Given the description of an element on the screen output the (x, y) to click on. 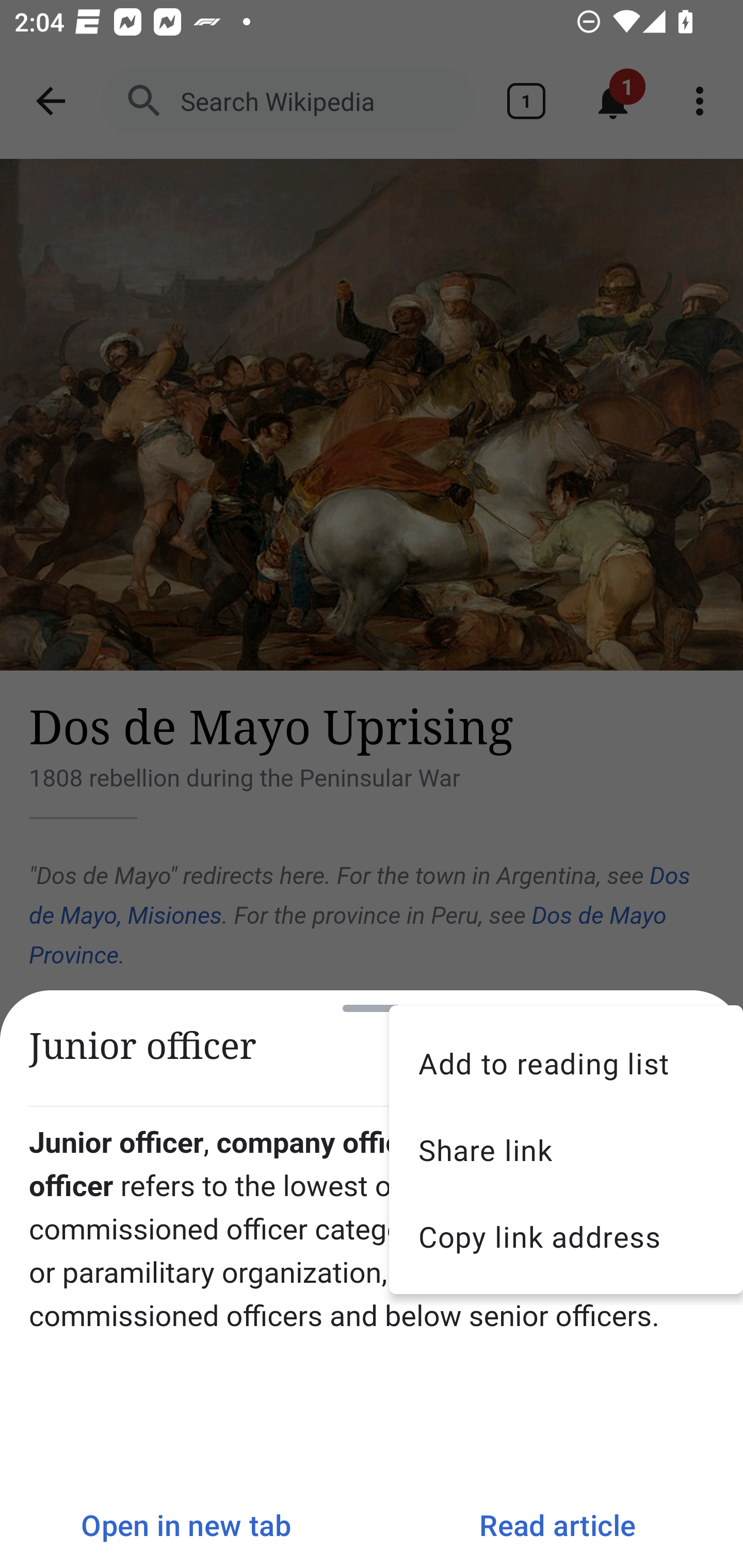
Add to reading list (566, 1063)
Share link (566, 1150)
Copy link address (566, 1236)
